Given the description of an element on the screen output the (x, y) to click on. 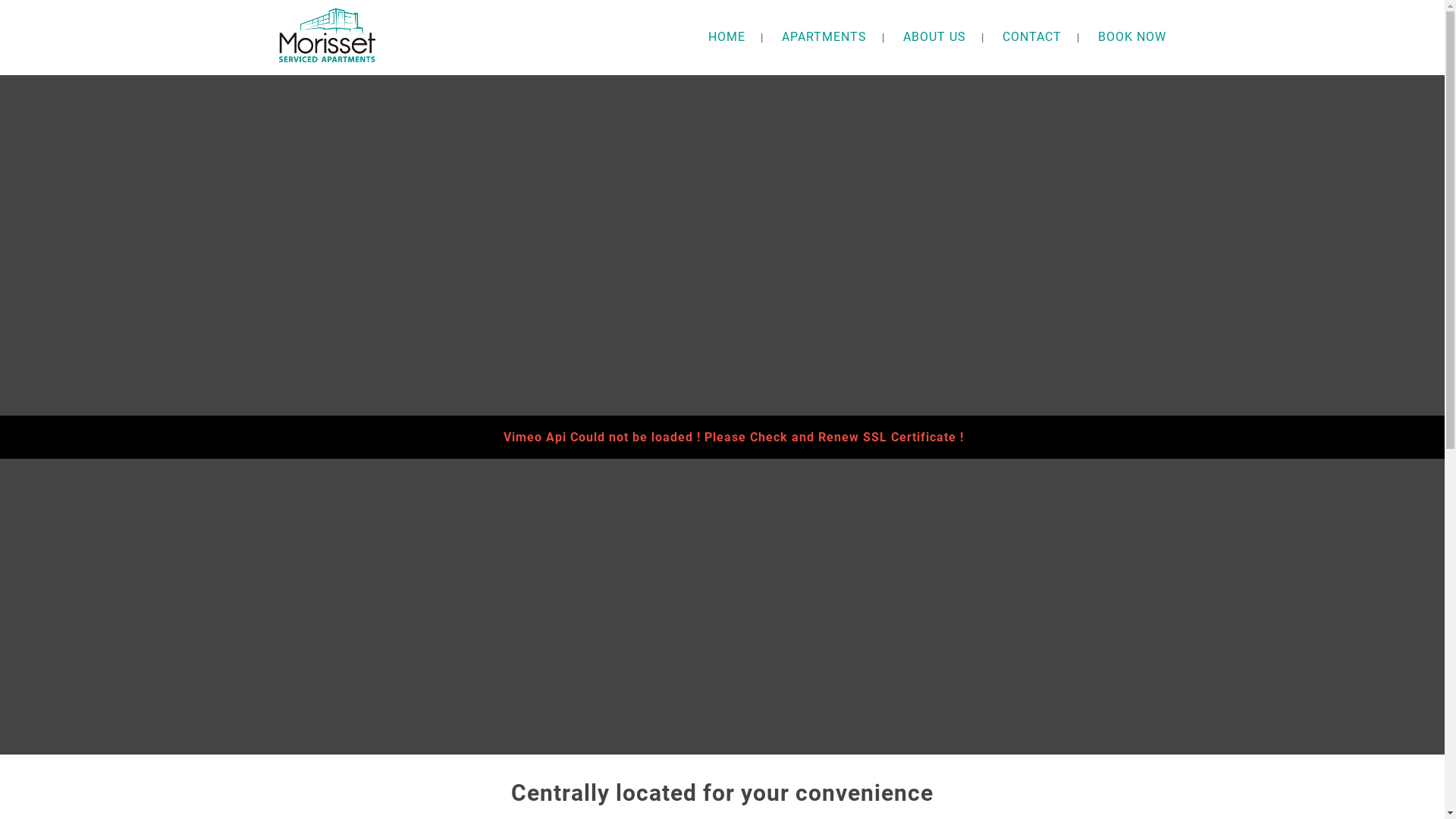
ABOUT US Element type: text (933, 36)
HOME Element type: text (726, 36)
CONTACT Element type: text (1031, 36)
BOOK NOW Element type: text (1132, 36)
APARTMENTS Element type: text (823, 36)
